Given the description of an element on the screen output the (x, y) to click on. 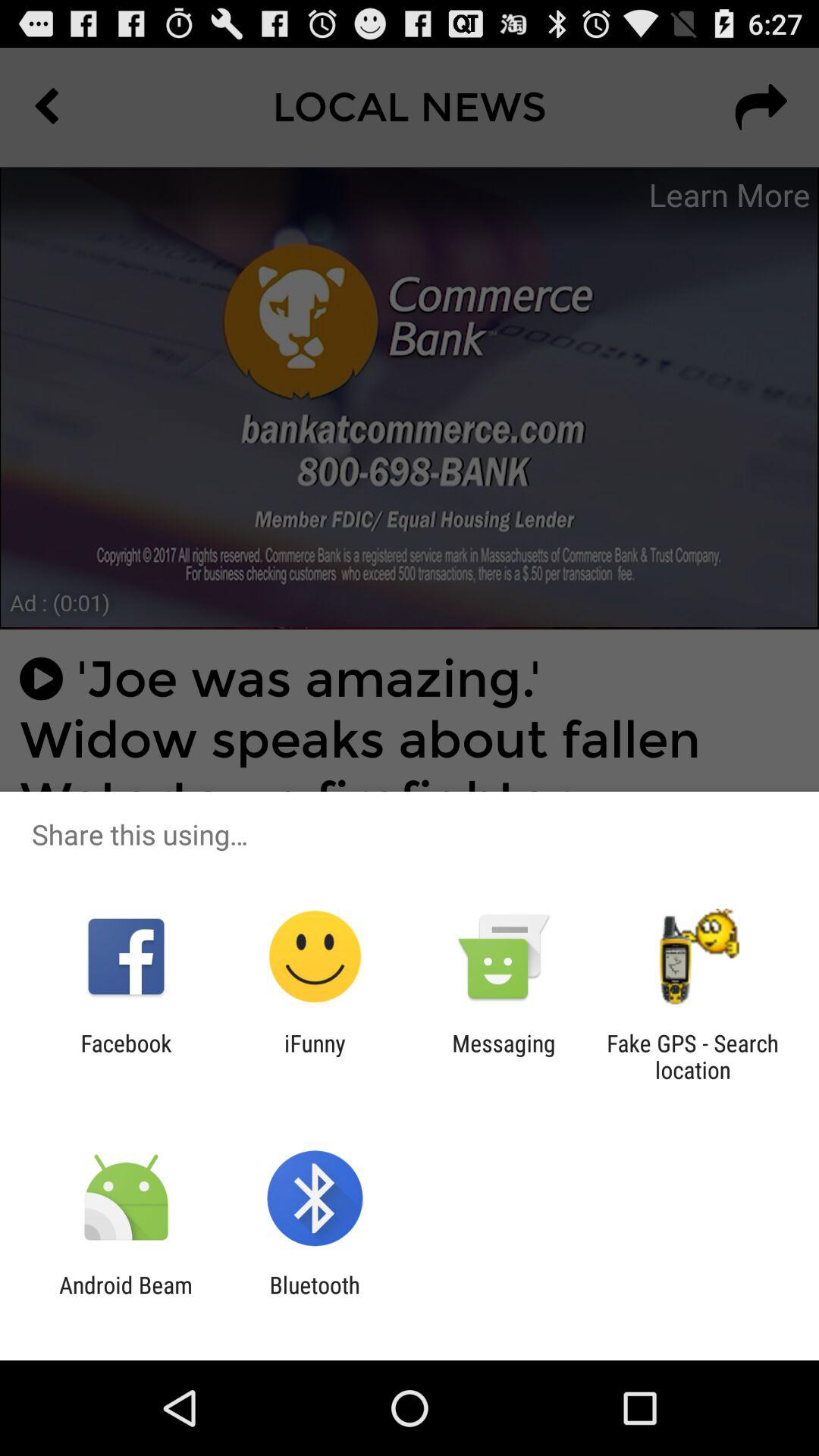
tap the item next to the fake gps search icon (503, 1056)
